Given the description of an element on the screen output the (x, y) to click on. 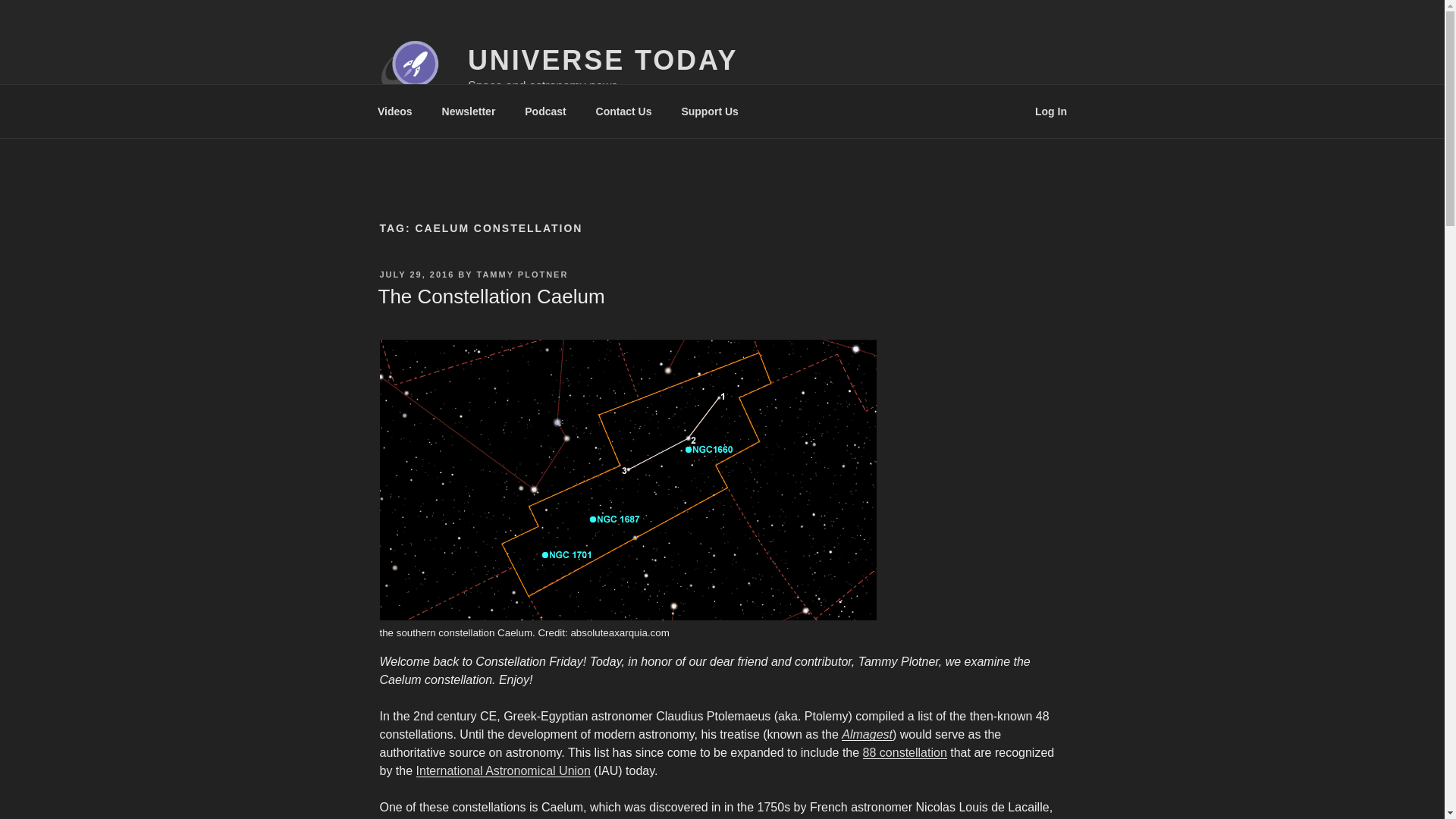
Log In (1051, 110)
Support Us (709, 110)
UNIVERSE TODAY (602, 60)
TAMMY PLOTNER (521, 274)
Newsletter (468, 110)
Almagest (866, 734)
International Astronomical Union (503, 770)
Videos (394, 110)
88 constellation (905, 752)
Contact Us (623, 110)
Podcast (545, 110)
The Constellation Caelum (490, 296)
JULY 29, 2016 (416, 274)
